Given the description of an element on the screen output the (x, y) to click on. 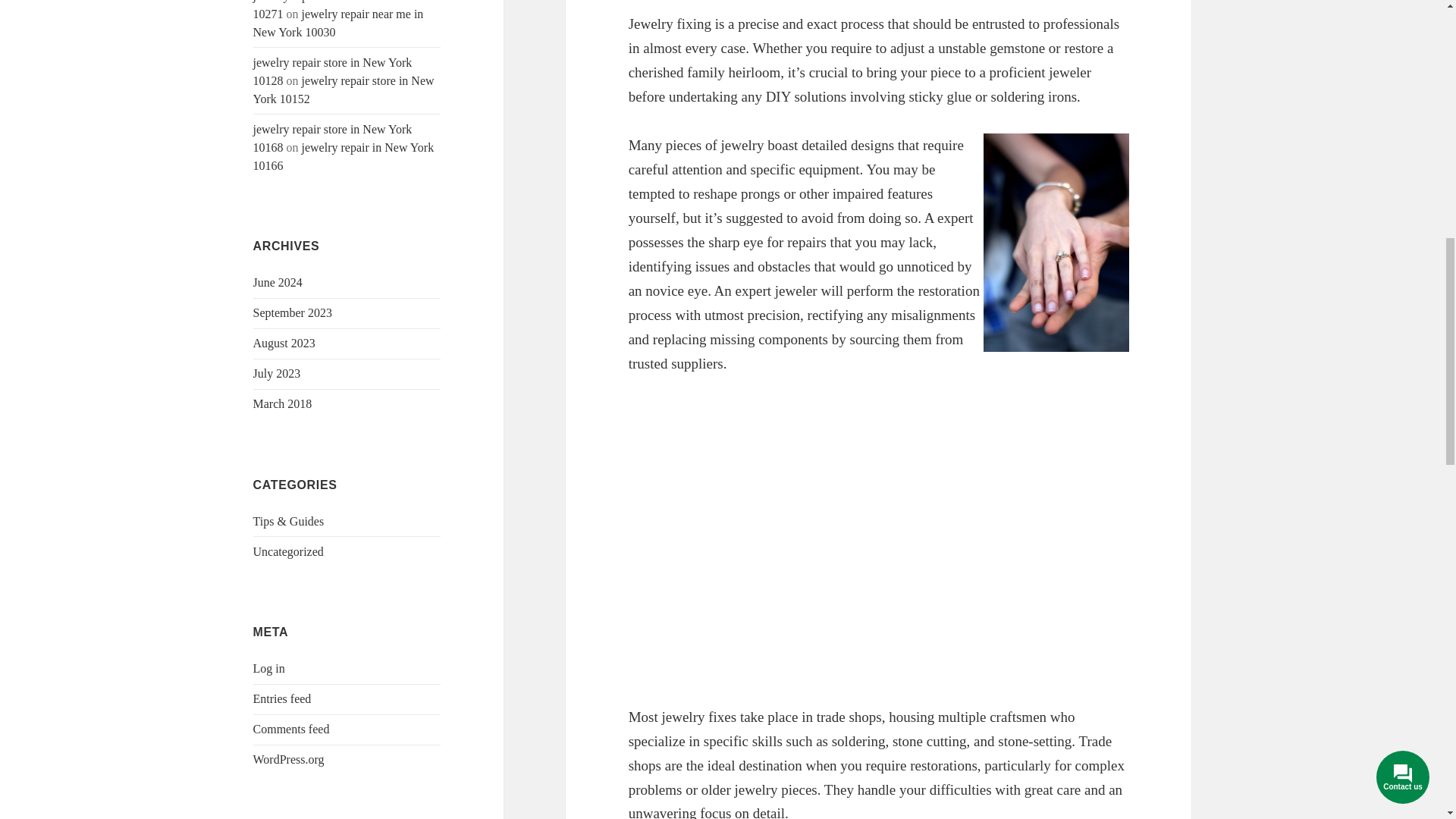
Uncategorized (288, 551)
September 2023 (292, 312)
jewelry repair store in New York 10168 (332, 137)
June 2024 (277, 282)
Entries feed (282, 698)
July 2023 (277, 373)
WordPress.org (288, 758)
August 2023 (284, 342)
jewelry repair near me in New York 10030 (338, 22)
jewelry repair store in New York 10128 (332, 71)
